Given the description of an element on the screen output the (x, y) to click on. 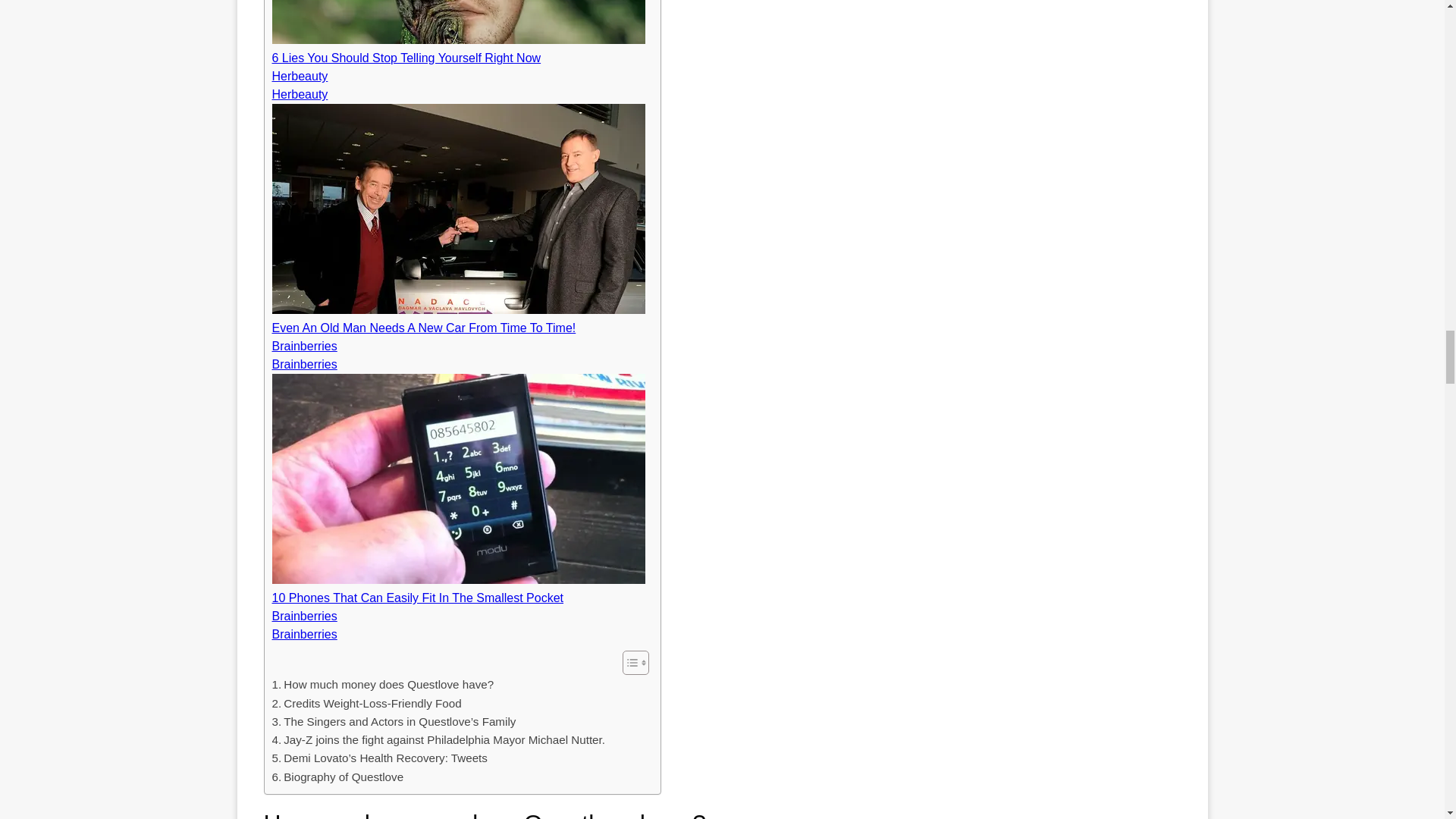
Credits Weight-Loss-Friendly Food (365, 703)
How much money does Questlove have? (381, 684)
How much money does Questlove have? (381, 684)
Credits Weight-Loss-Friendly Food (365, 703)
